Given the description of an element on the screen output the (x, y) to click on. 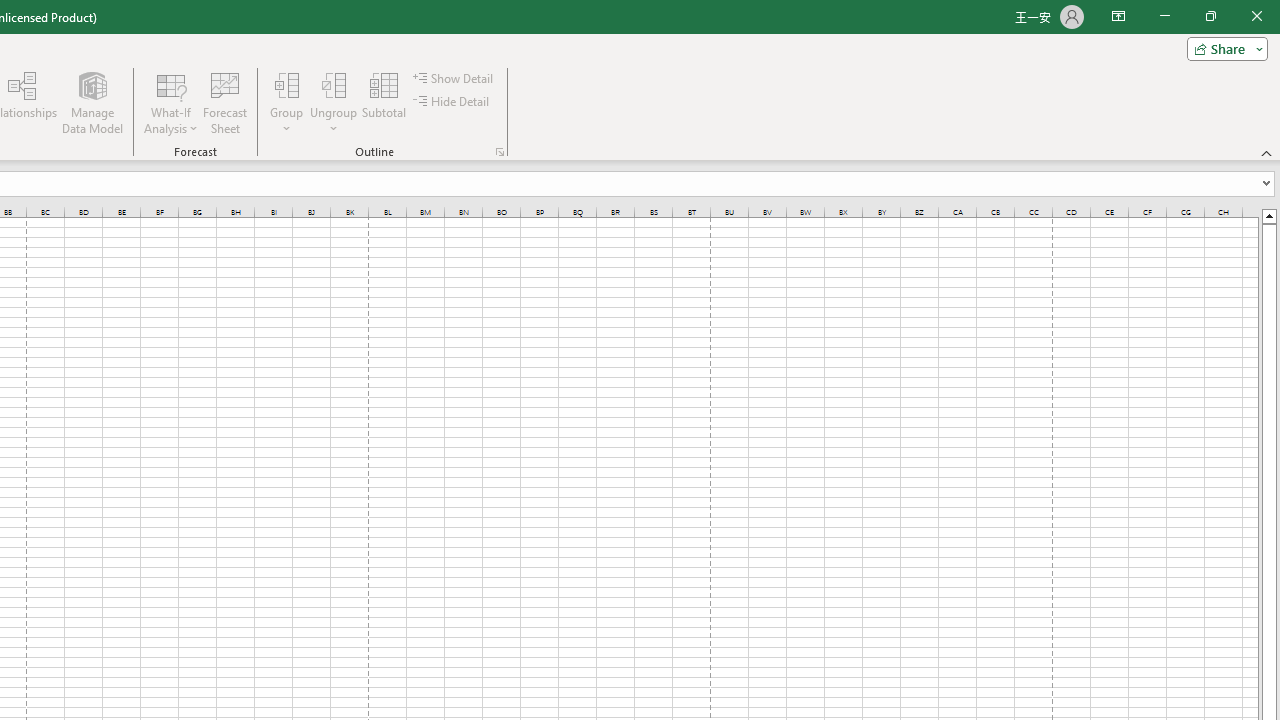
Forecast Sheet (224, 102)
Manage Data Model (92, 102)
